Given the description of an element on the screen output the (x, y) to click on. 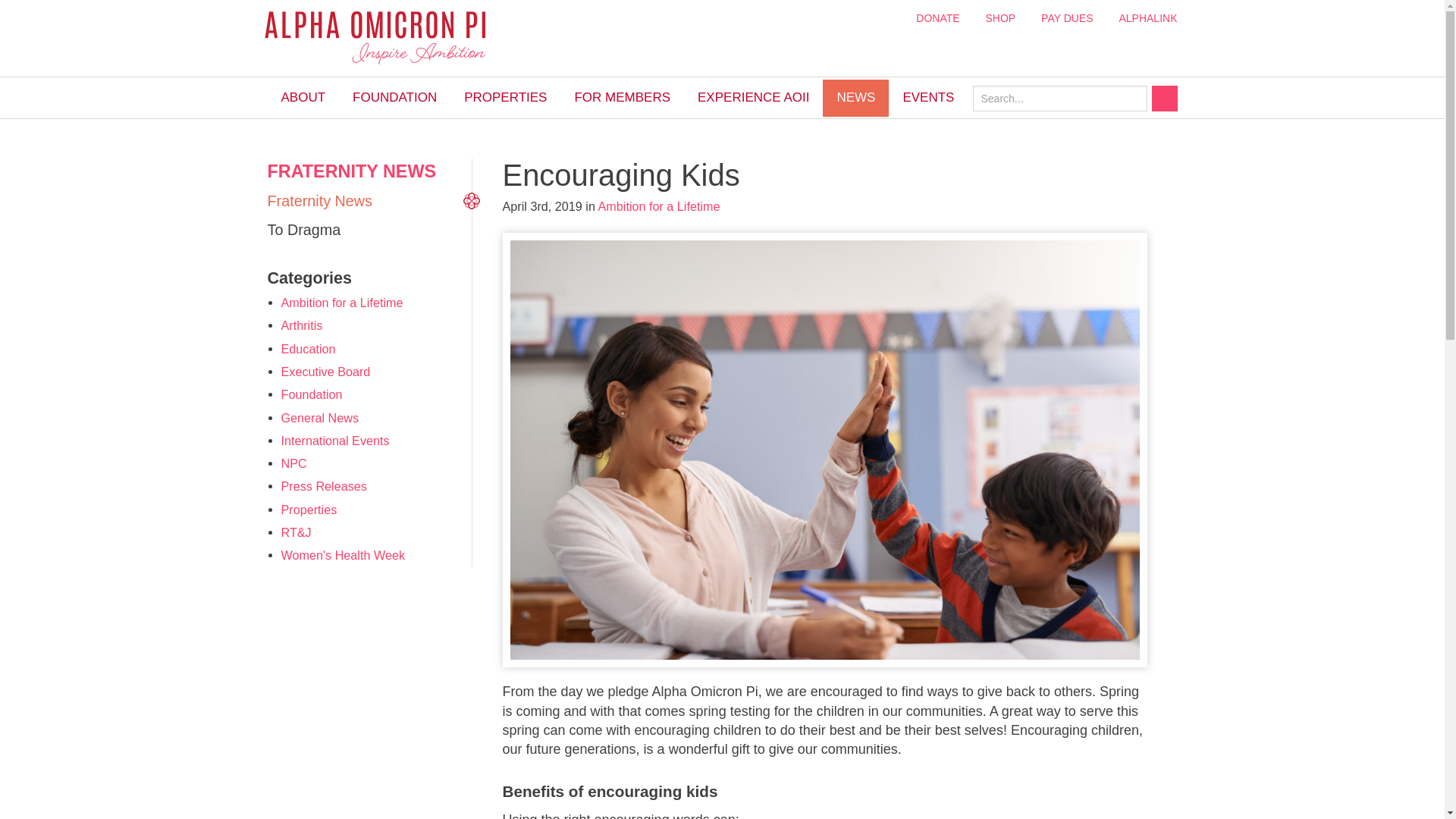
Search... (1059, 98)
